Given the description of an element on the screen output the (x, y) to click on. 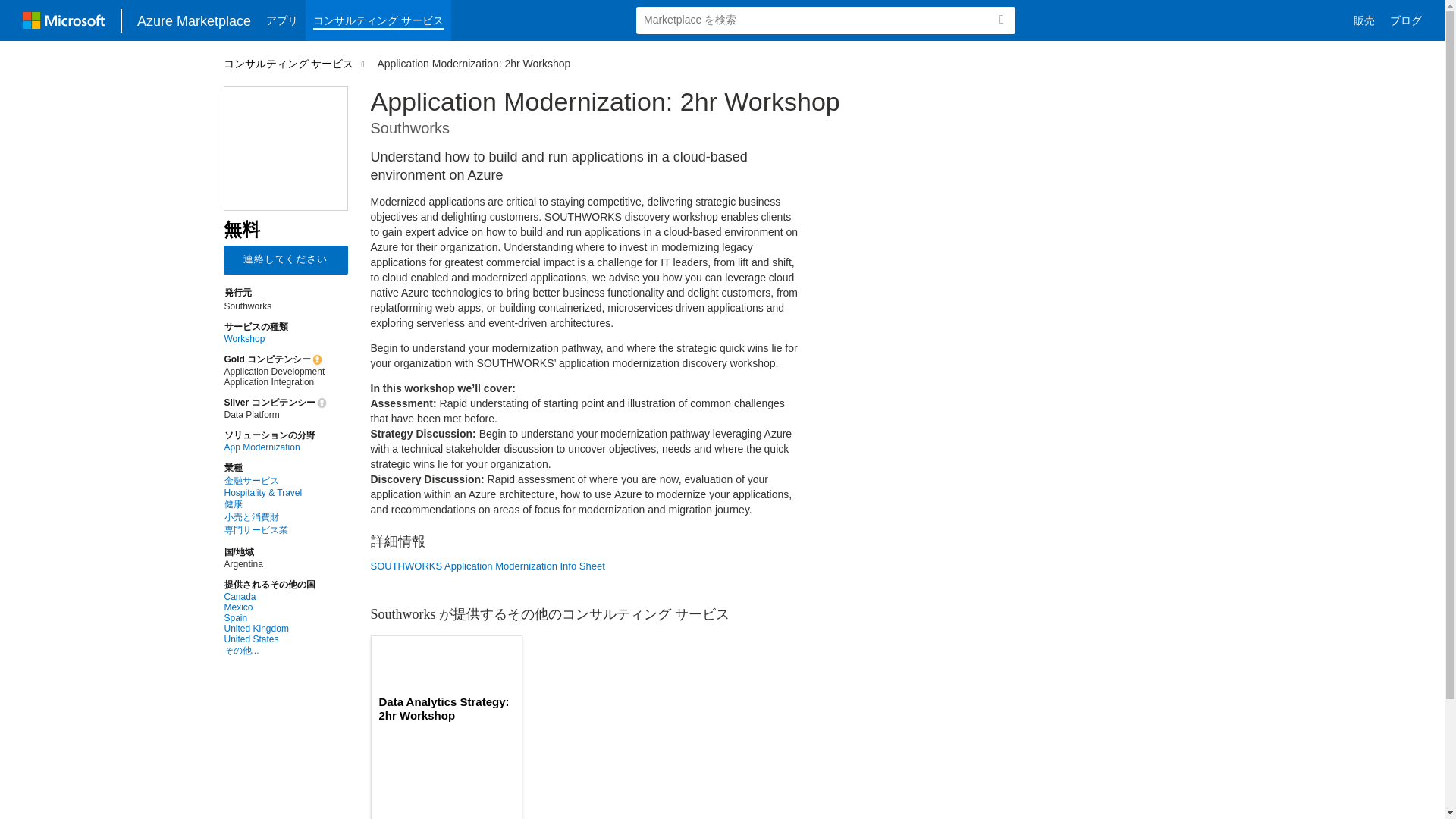
Azure Marketplace (194, 20)
Search (1001, 19)
Spain (275, 617)
App Modernization (275, 447)
United States (275, 638)
Mexico (275, 606)
SOUTHWORKS Application Modernization Info Sheet (585, 565)
Workshop (275, 338)
Canada (275, 596)
Data Analytics Strategy: 2hr Workshop (445, 708)
United Kingdom (275, 628)
